Given the description of an element on the screen output the (x, y) to click on. 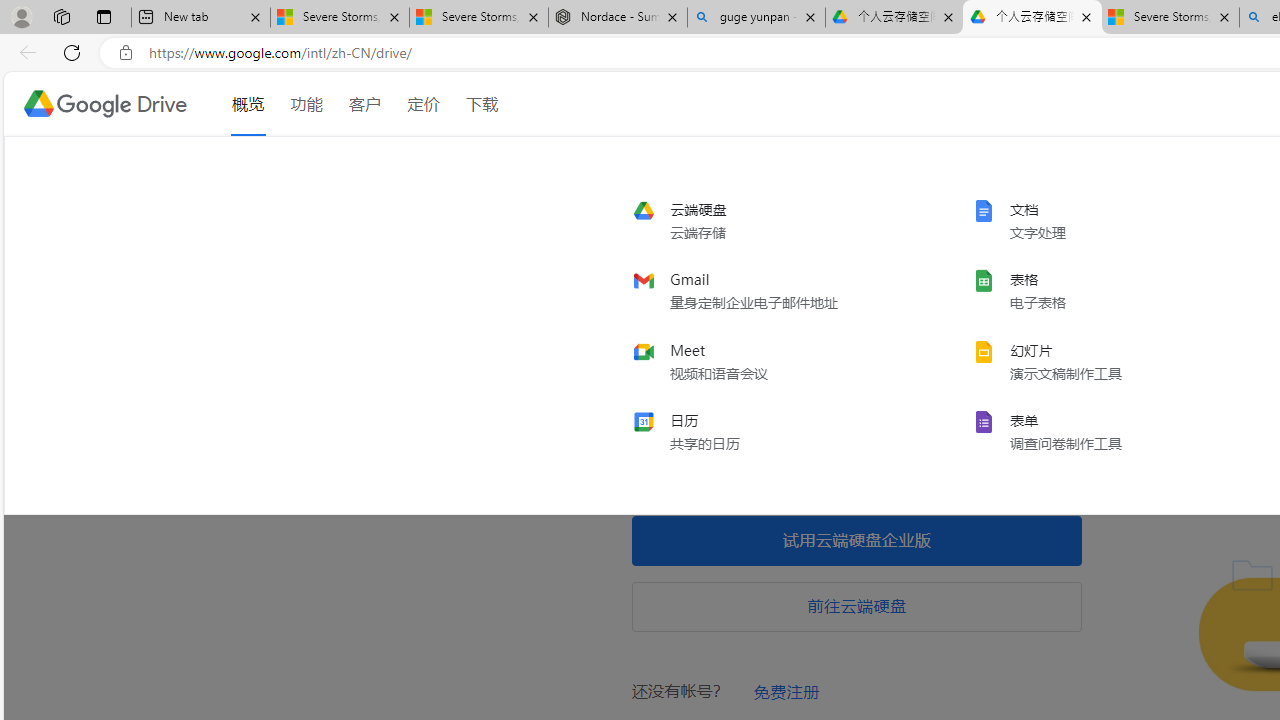
slides (1105, 361)
Google Drive (104, 103)
drive (765, 221)
calendar (765, 431)
meet (765, 361)
